Given the description of an element on the screen output the (x, y) to click on. 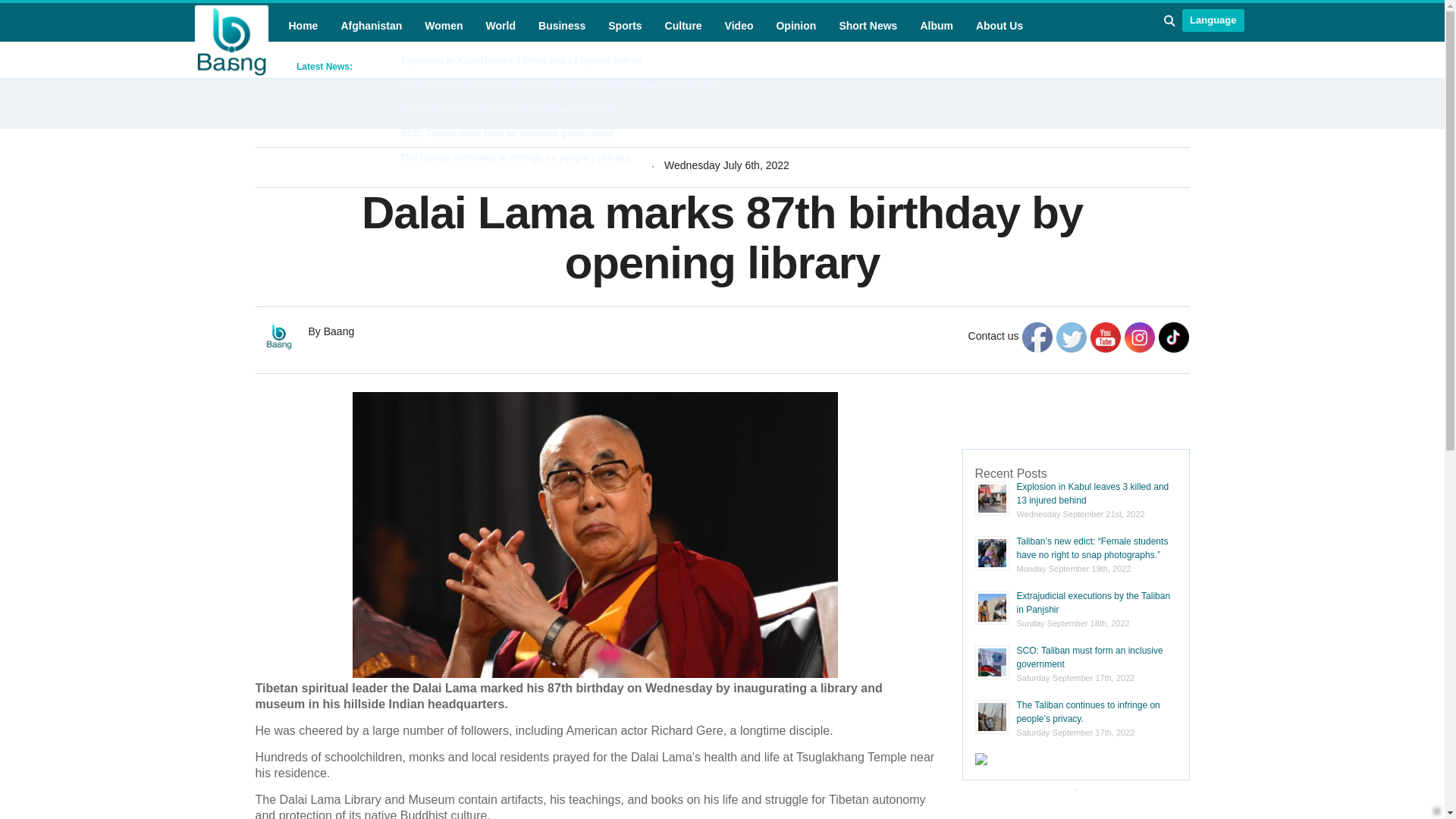
Opinion (796, 25)
Women (443, 25)
Video (739, 25)
Extrajudicial executions by the Taliban in Panjshir (507, 109)
Sports (624, 25)
Short News (867, 25)
Explosion in Kabul leaves 3 killed and 13 injured behind (521, 60)
Home (302, 25)
Business (561, 25)
Facebook (1037, 337)
Culture (684, 25)
World (500, 25)
Afghanistan (371, 25)
Language (1212, 20)
About Us (999, 25)
